Given the description of an element on the screen output the (x, y) to click on. 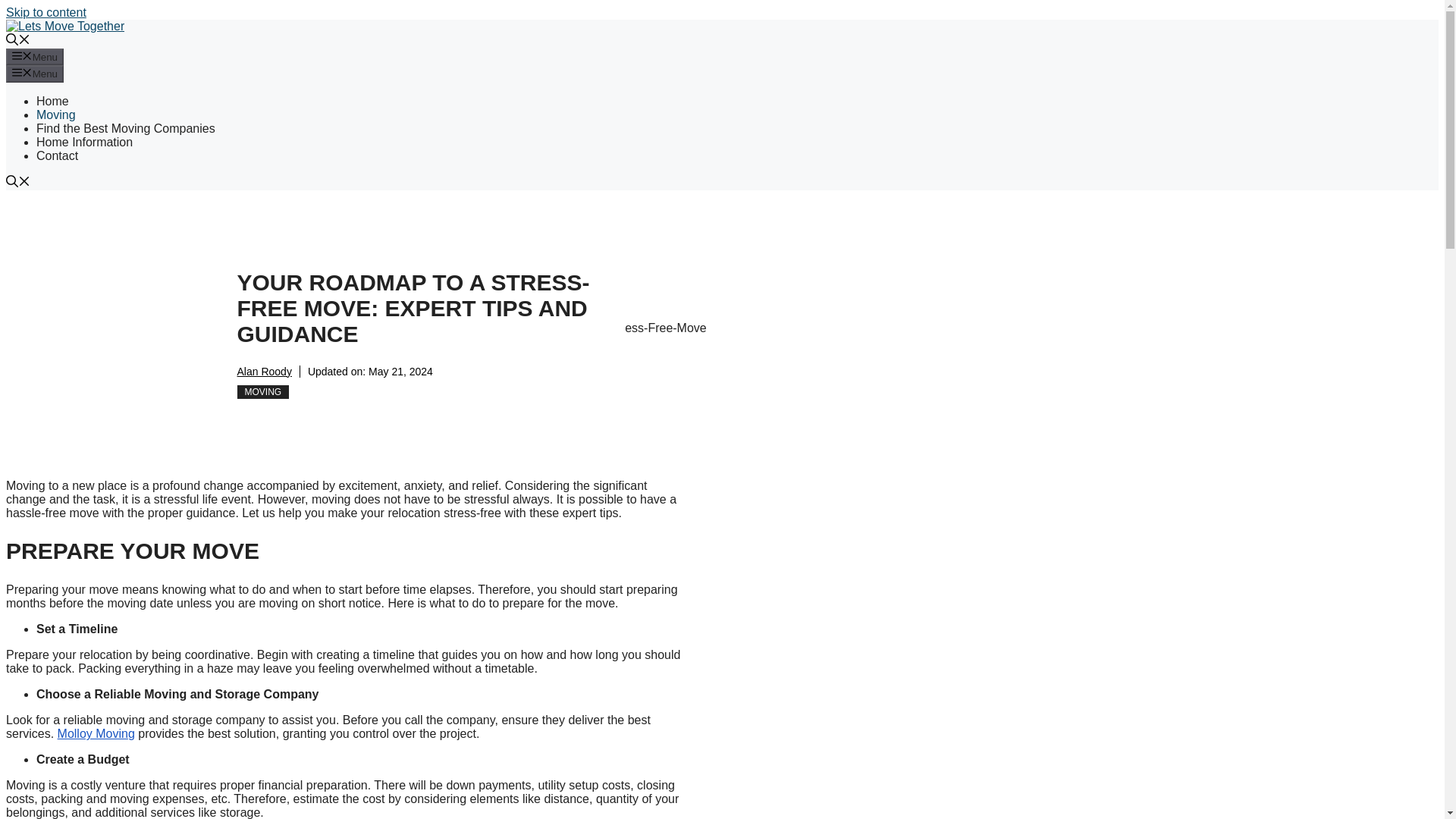
MOVING (261, 391)
Home Information (84, 141)
Skip to content (45, 11)
Contact (57, 155)
Home (52, 101)
Menu (34, 73)
Menu (34, 56)
Skip to content (45, 11)
Moving (55, 114)
Find the Best Moving Companies (125, 128)
